Given the description of an element on the screen output the (x, y) to click on. 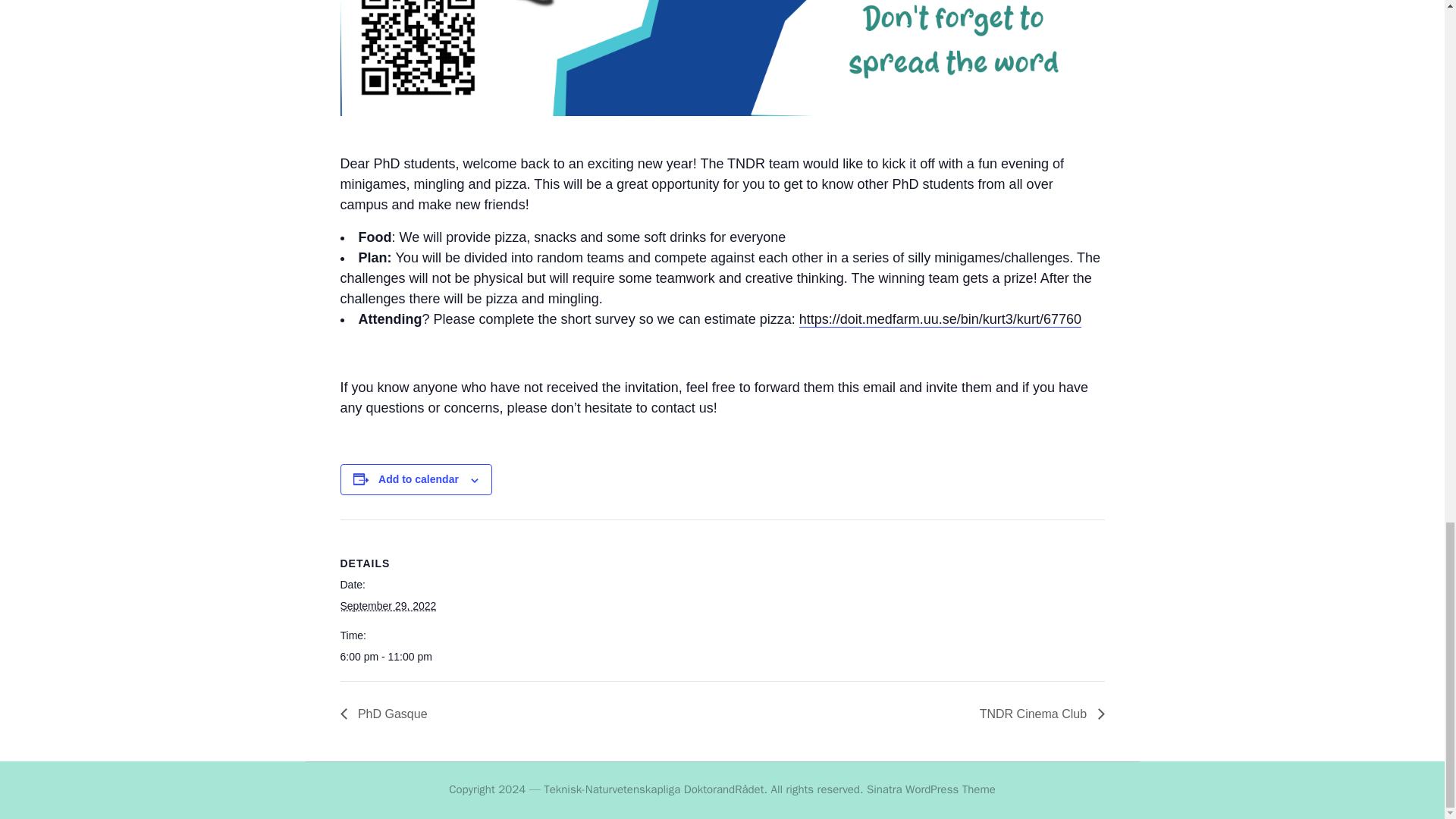
2022-09-29 (403, 656)
Sinatra WordPress Theme (930, 790)
2022-09-29 (387, 605)
TNDR Cinema Club (1038, 713)
Add to calendar (418, 479)
PhD Gasque (387, 713)
